Given the description of an element on the screen output the (x, y) to click on. 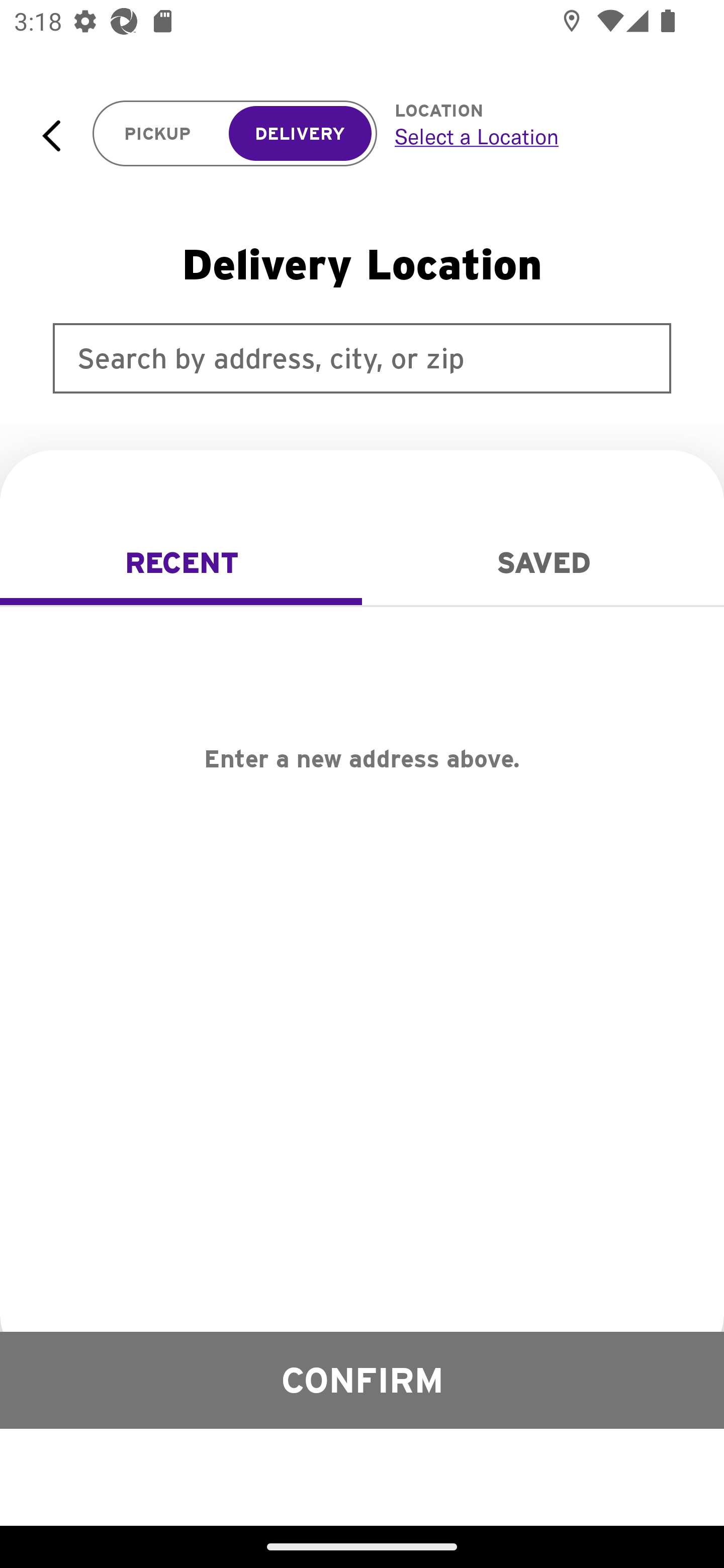
PICKUP (157, 133)
DELIVERY (299, 133)
Select a Location (536, 136)
Search by address, city, or zip (361, 358)
Saved SAVED (543, 562)
CONFIRM (362, 1379)
